Given the description of an element on the screen output the (x, y) to click on. 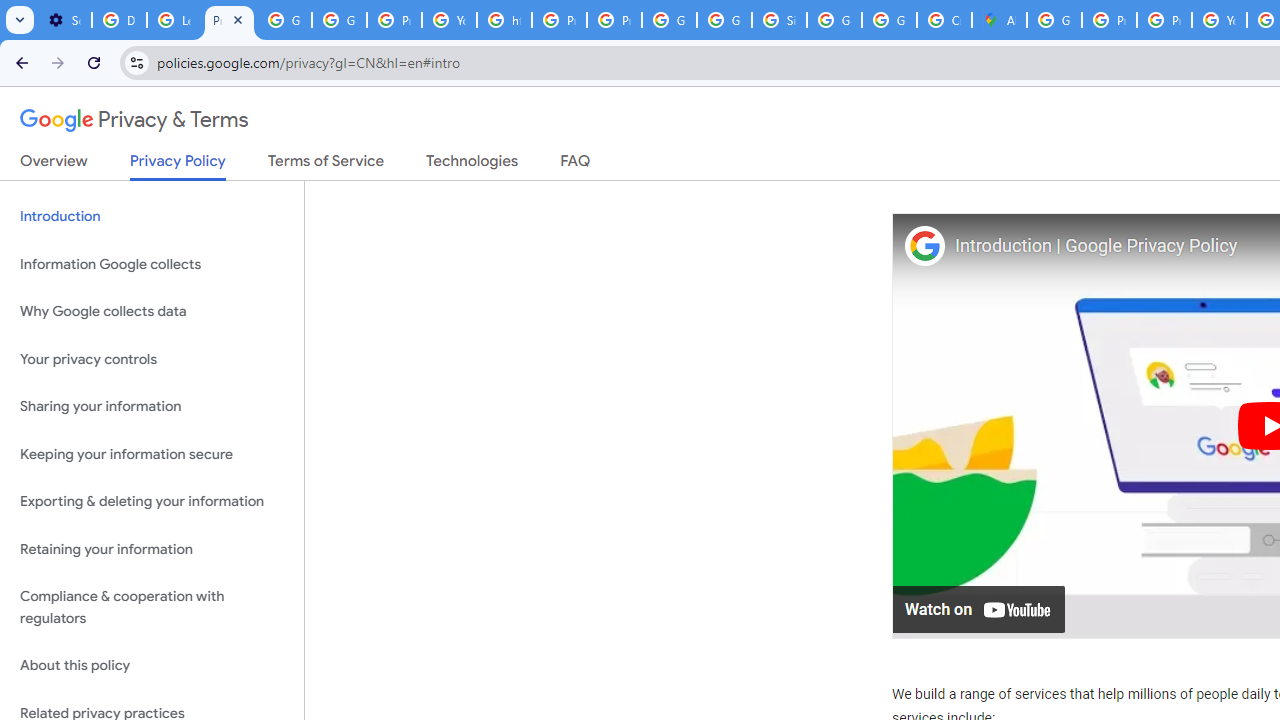
View site information (136, 62)
Introduction (152, 216)
Back (19, 62)
Privacy Help Center - Policies Help (559, 20)
Learn how to find your photos - Google Photos Help (174, 20)
Information Google collects (152, 263)
Sign in - Google Accounts (779, 20)
Privacy & Terms (134, 120)
Google Account Help (339, 20)
Overview (54, 165)
Create your Google Account (943, 20)
Settings - Performance (64, 20)
Why Google collects data (152, 312)
